Given the description of an element on the screen output the (x, y) to click on. 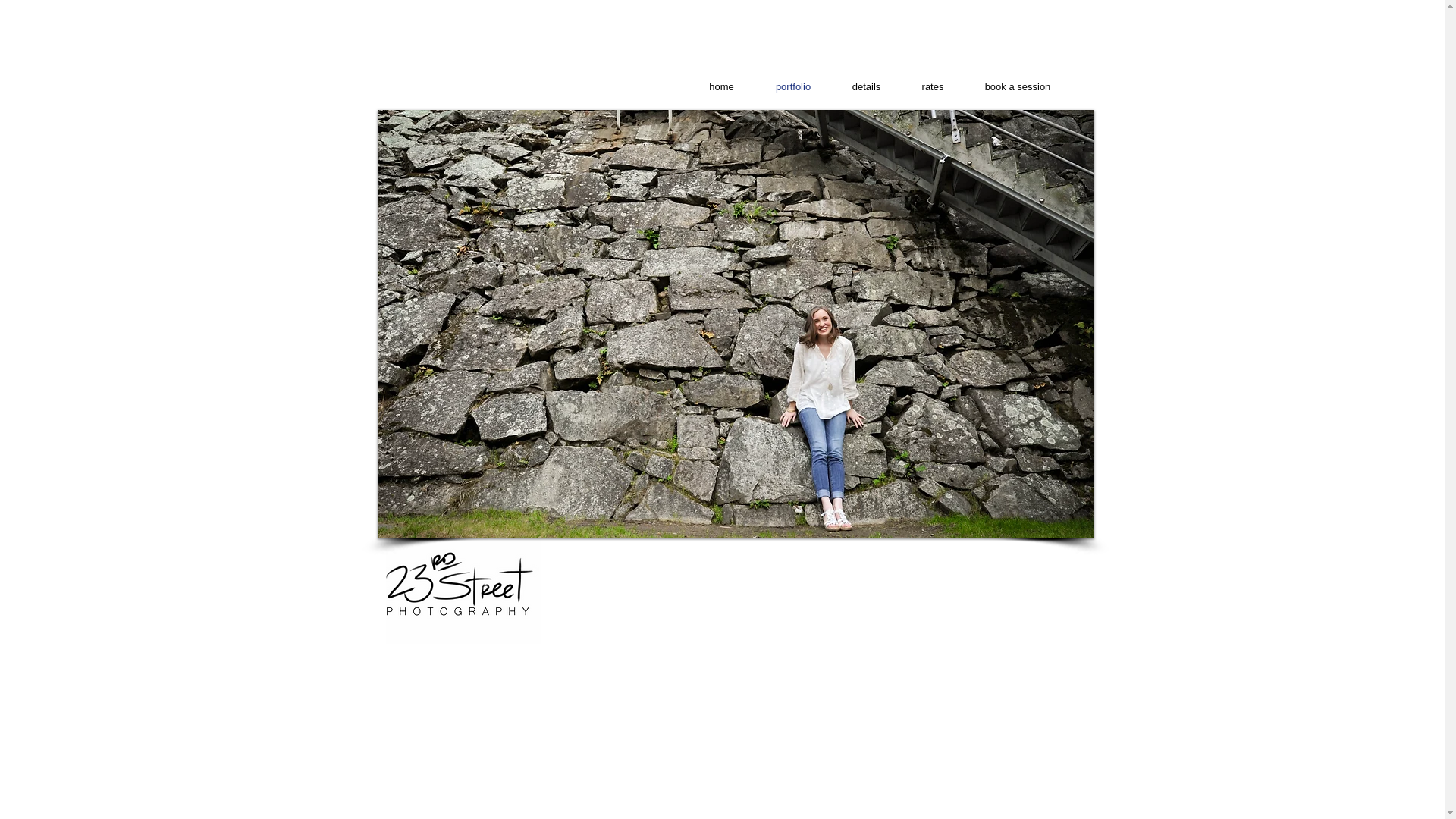
portfolio Element type: text (793, 86)
Webmaster Login Element type: text (1057, 644)
home Element type: text (721, 86)
book a session Element type: text (1017, 86)
details Element type: text (865, 86)
rates Element type: text (931, 86)
